Given the description of an element on the screen output the (x, y) to click on. 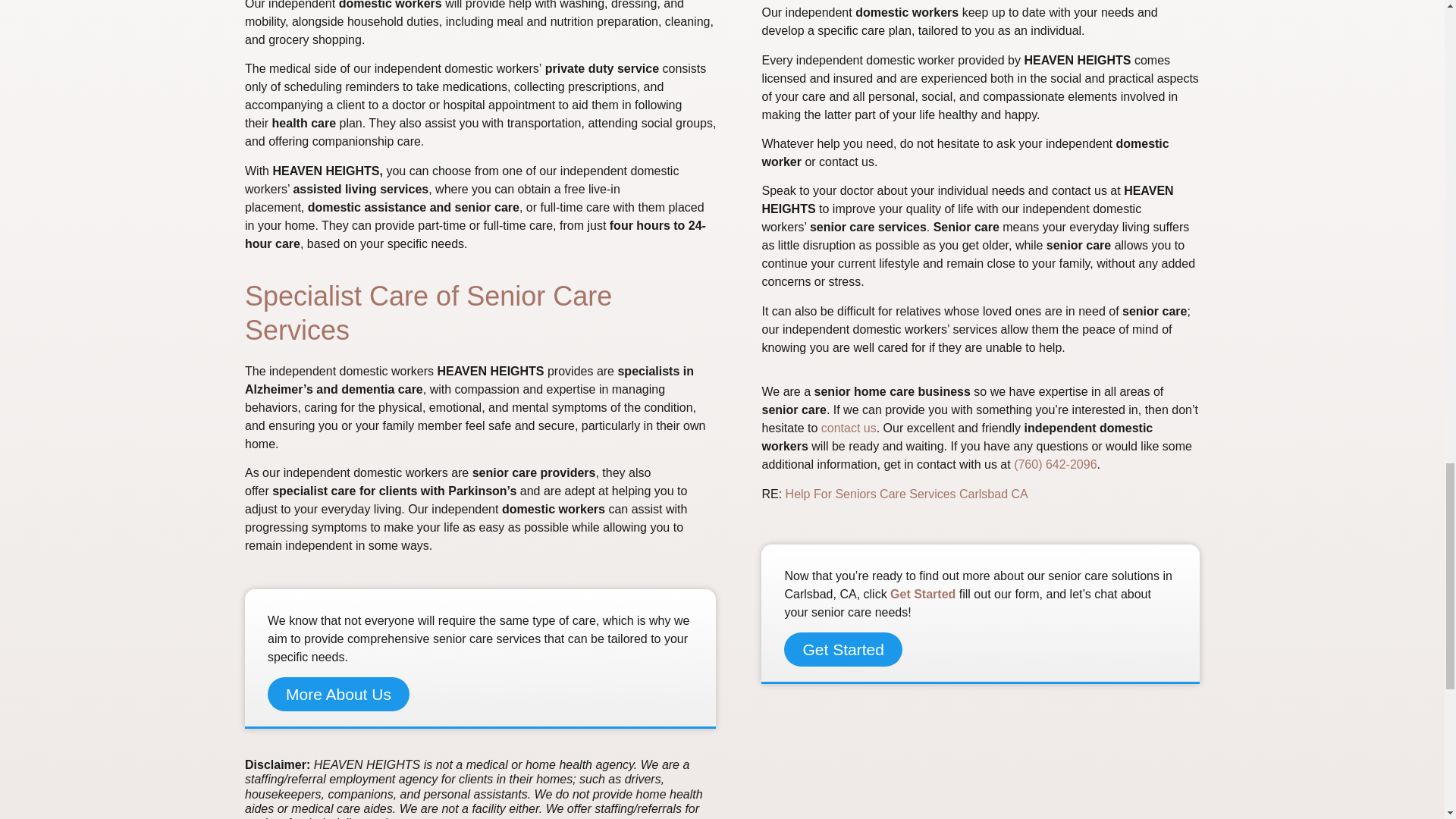
More About Us (338, 694)
Get Started (842, 649)
Get Started (922, 594)
Help For Seniors Care Services Carlsbad CA (906, 493)
Help For Seniors Carlsbad CA (906, 493)
contact us (848, 427)
